Given the description of an element on the screen output the (x, y) to click on. 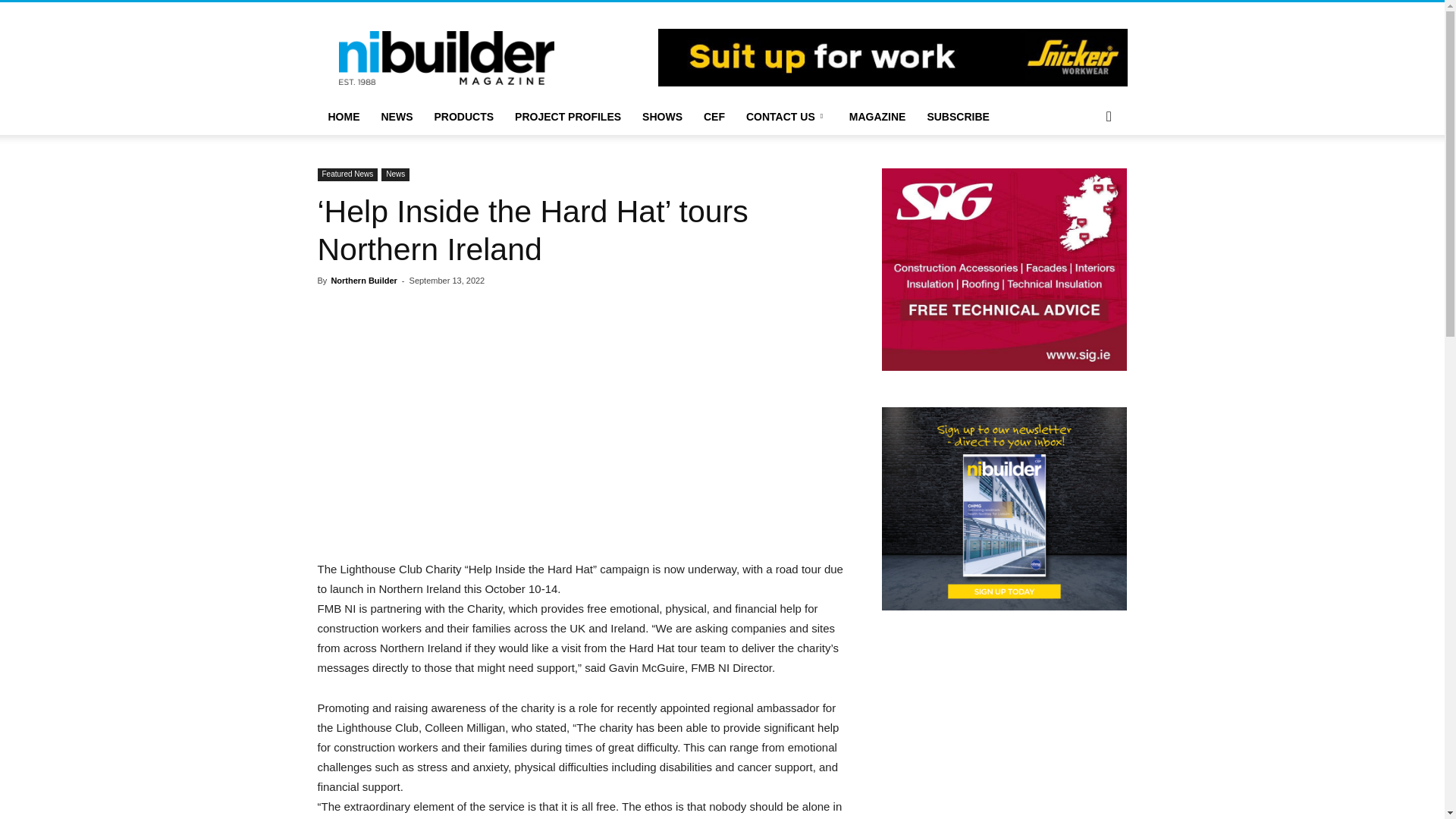
PROJECT PROFILES (567, 116)
PRODUCTS (463, 116)
CEF (714, 116)
SHOWS (662, 116)
Northern Builder Magazine (445, 57)
HOME (343, 116)
NEWS (396, 116)
CONTACT US (786, 116)
